Given the description of an element on the screen output the (x, y) to click on. 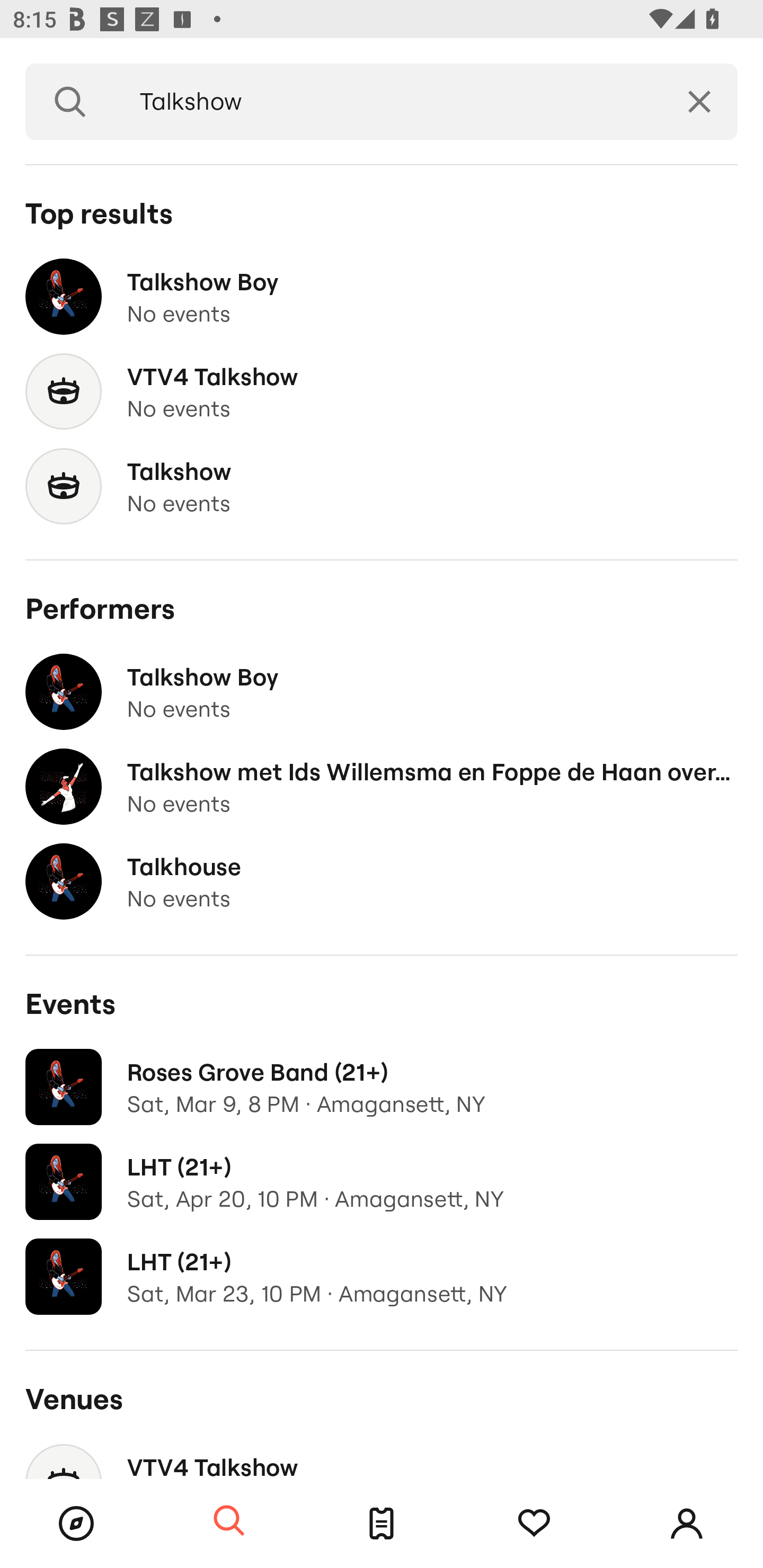
Search (69, 101)
Talkshow (387, 101)
Clear (699, 101)
Talkshow Boy No events (381, 296)
VTV4 Talkshow No events (381, 391)
Talkshow No events (381, 486)
Talkshow Boy No events (381, 692)
Talkhouse No events (381, 881)
LHT (21+) Sat, Apr 20, 10 PM · Amagansett, NY (381, 1182)
LHT (21+) Sat, Mar 23, 10 PM · Amagansett, NY (381, 1276)
Browse (76, 1523)
Search (228, 1521)
Tickets (381, 1523)
Tracking (533, 1523)
Account (686, 1523)
